Given the description of an element on the screen output the (x, y) to click on. 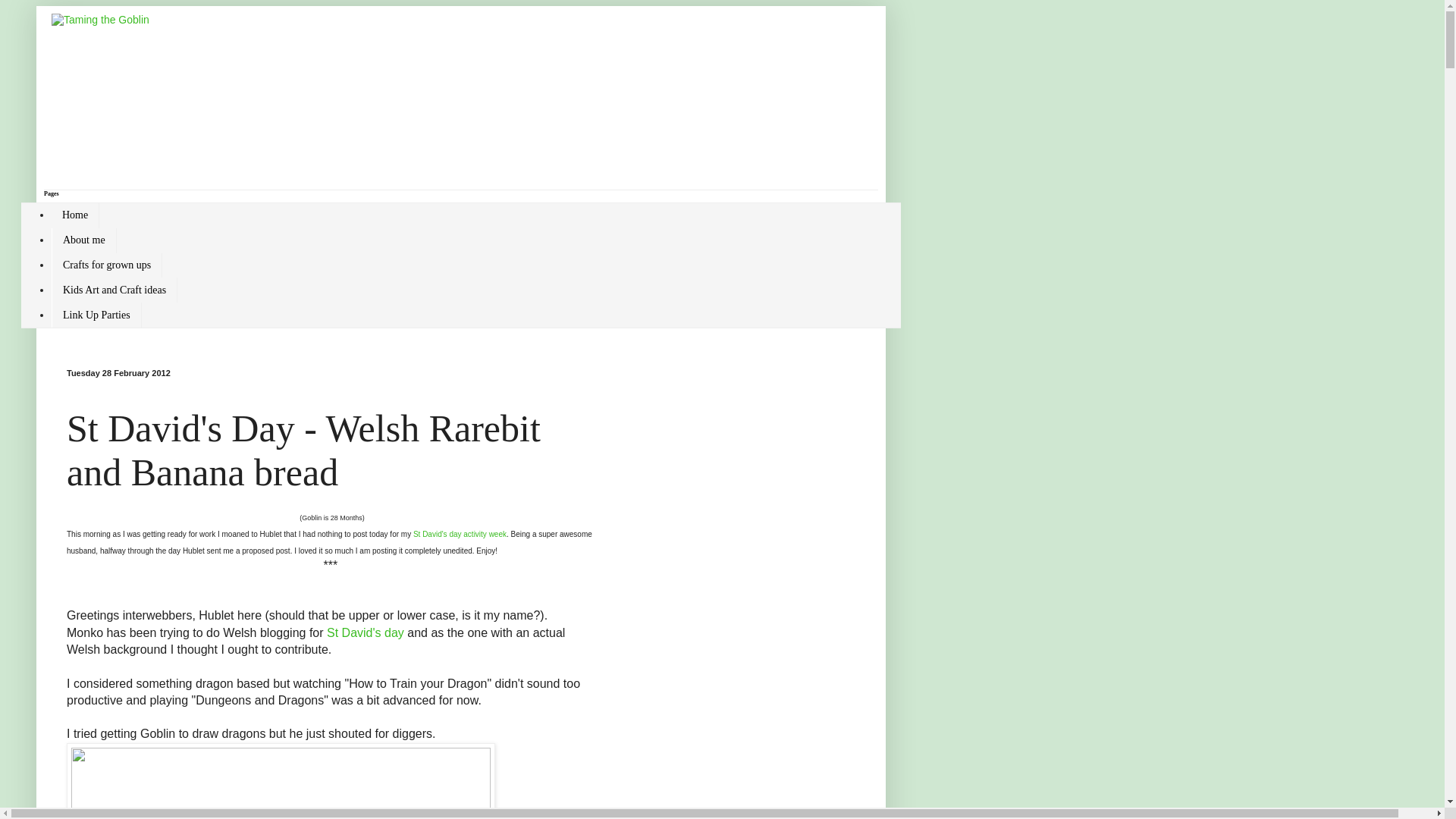
Crafts for grown ups (105, 265)
Link Up Parties (95, 314)
About me (83, 240)
Kids Art and Craft ideas (113, 289)
St David's day activity week (459, 533)
St David's day (365, 632)
Home (74, 215)
